Given the description of an element on the screen output the (x, y) to click on. 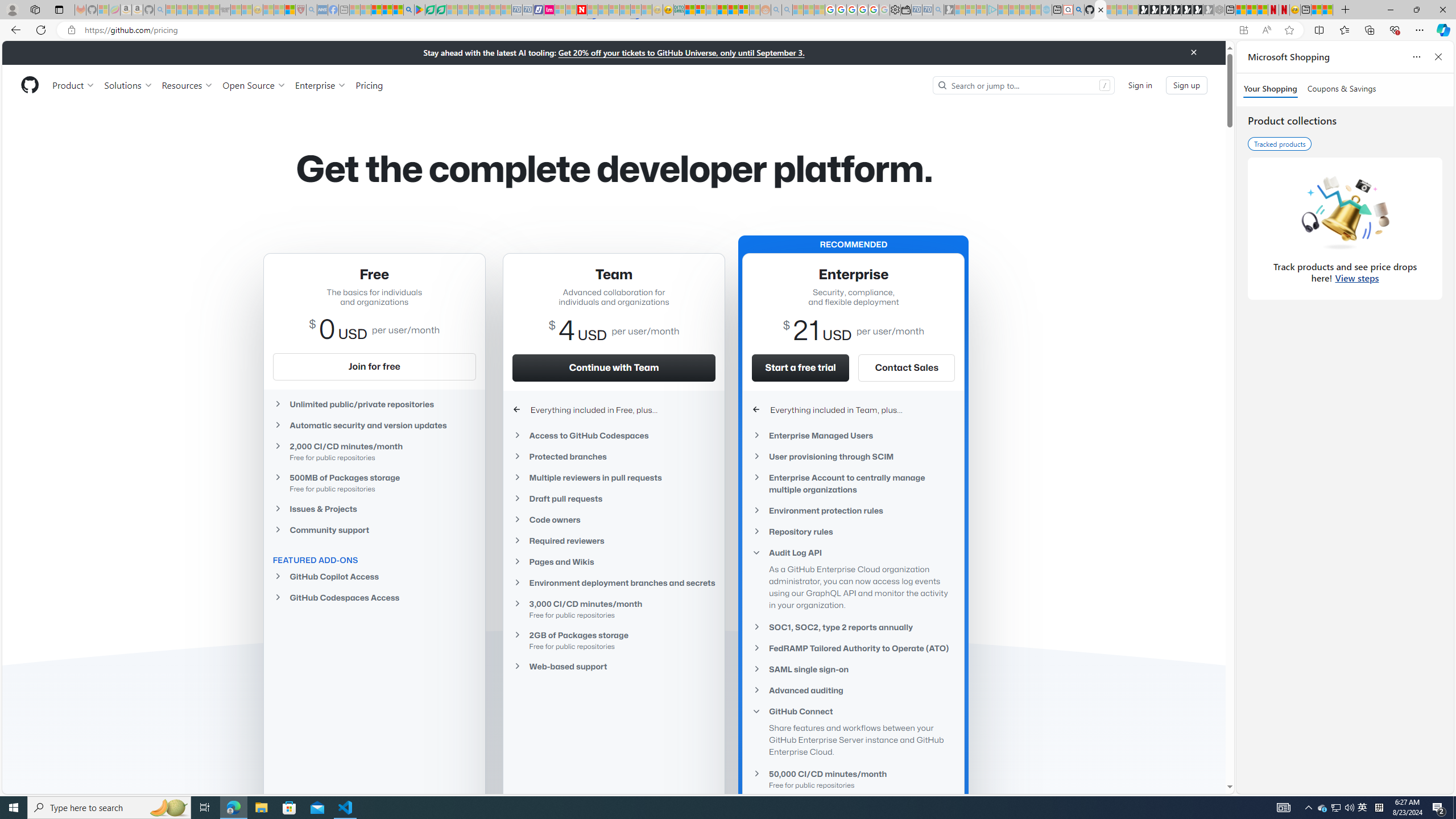
User provisioning through SCIM (853, 456)
Open Source (254, 84)
Advanced auditing (853, 689)
Repository rules (853, 531)
Latest Politics News & Archive | Newsweek.com (582, 9)
